Given the description of an element on the screen output the (x, y) to click on. 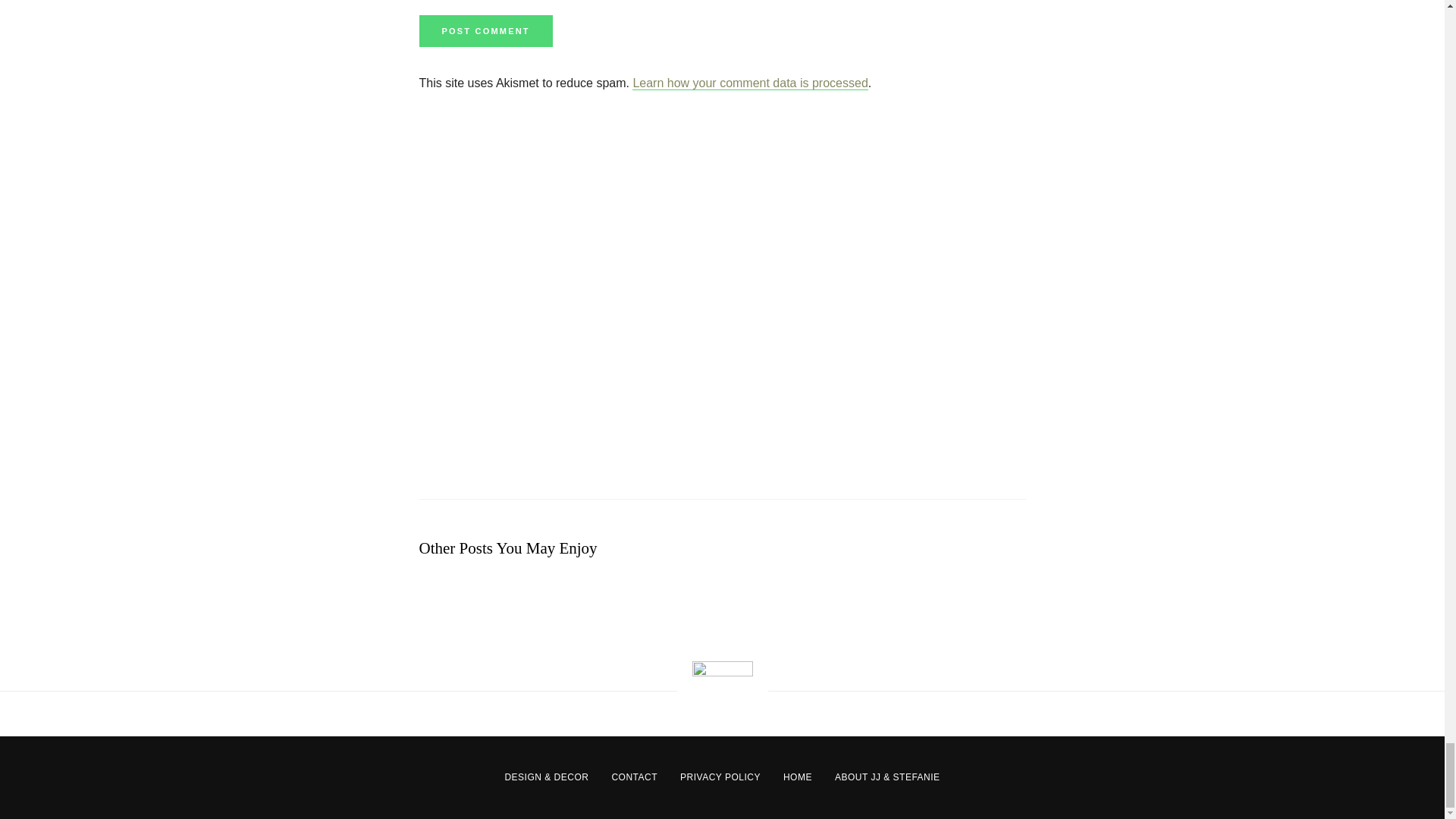
Post Comment (485, 30)
Learn how your comment data is processed (749, 82)
Post Comment (485, 30)
